Given the description of an element on the screen output the (x, y) to click on. 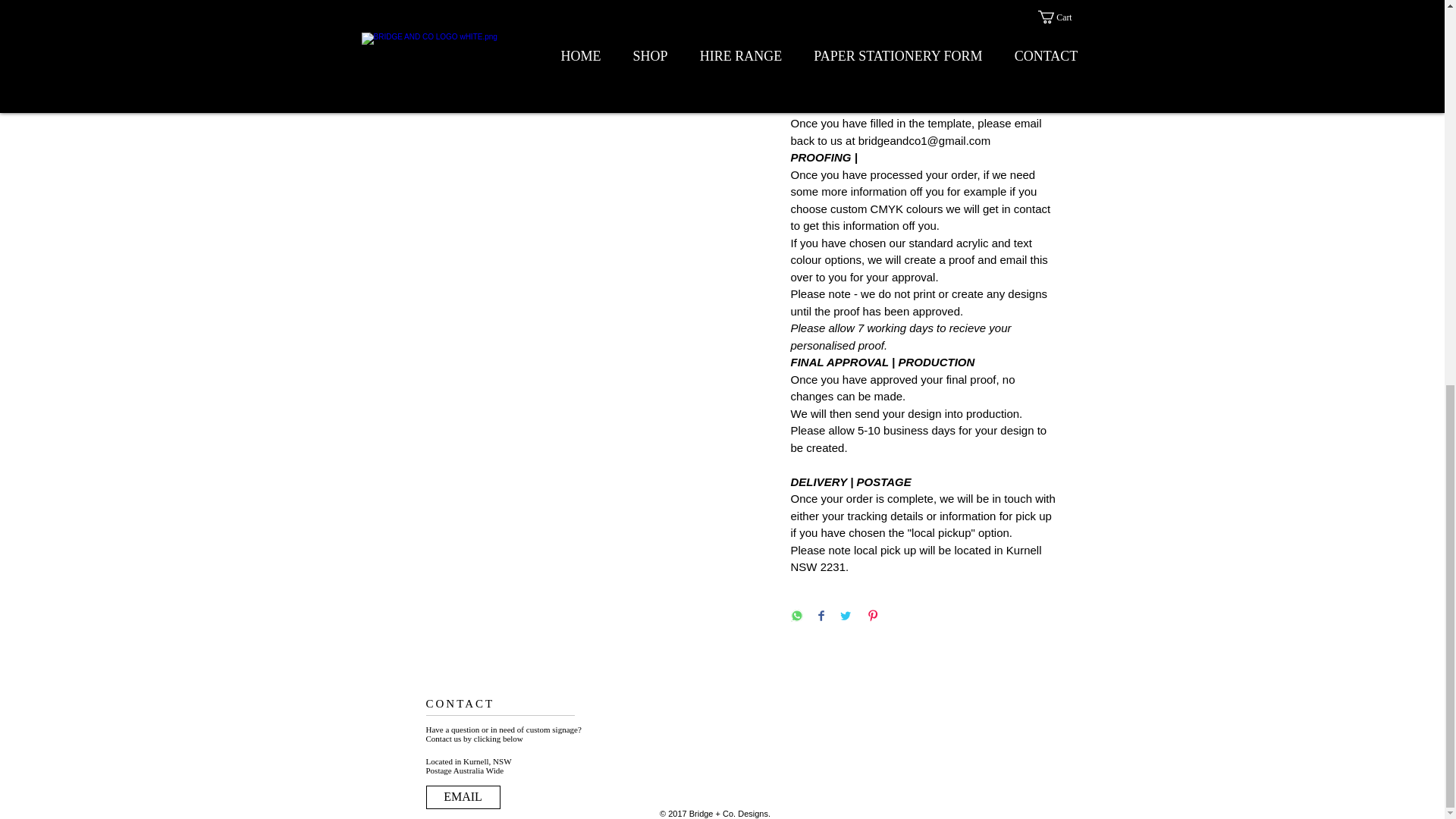
EMAIL (463, 797)
Click here to download template by table numbers (916, 54)
Click here to download template by alphabetical order (910, 97)
